Given the description of an element on the screen output the (x, y) to click on. 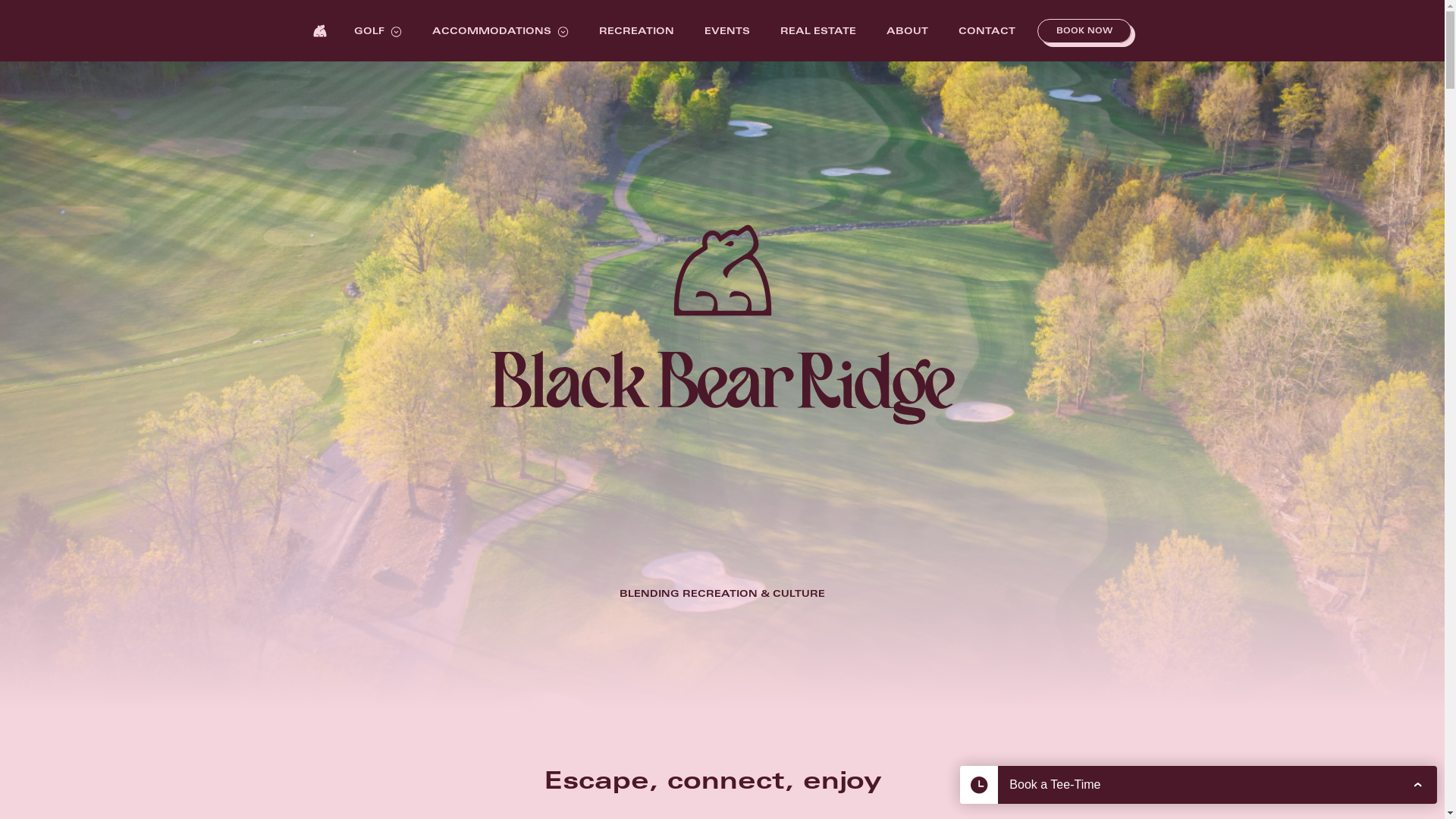
BOOK NOW Element type: text (1084, 30)
ABOUT Element type: text (907, 31)
EVENTS Element type: text (726, 31)
Book a Tee-Time Element type: text (1198, 784)
CONTACT Element type: text (986, 31)
ACCOMMODATIONS Element type: text (491, 31)
RECREATION Element type: text (636, 31)
GOLF Element type: text (369, 31)
Lightspeed Golf Element type: text (1382, 788)
REAL ESTATE Element type: text (818, 31)
